Given the description of an element on the screen output the (x, y) to click on. 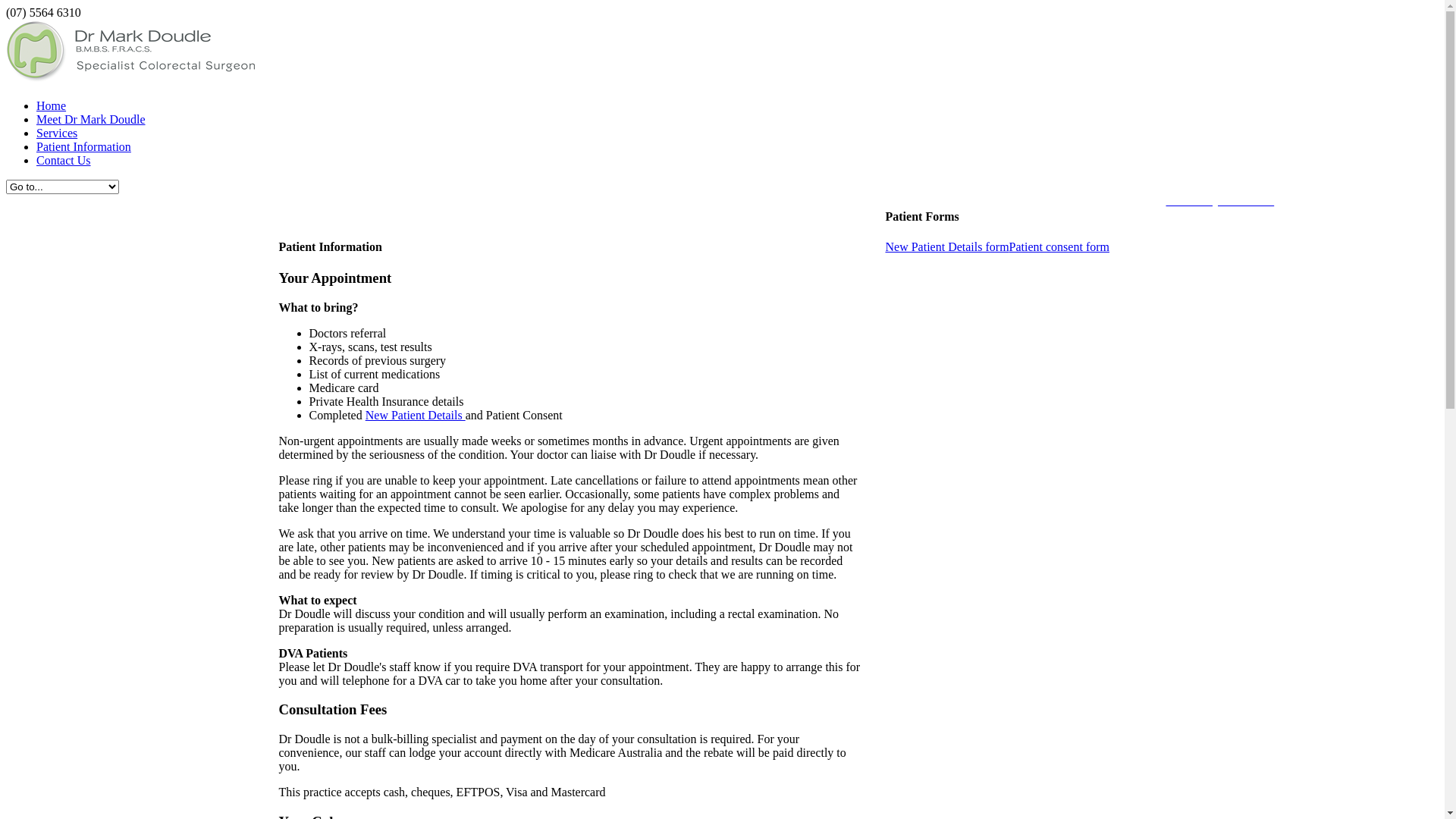
Contact Us Element type: text (63, 159)
New Patient Details form Element type: text (947, 246)
Website by 1232WEB Element type: text (1220, 200)
Home Element type: text (50, 105)
New Patient Details Element type: text (415, 414)
Patient consent form Element type: text (1059, 246)
Patient Information Element type: text (83, 146)
Services Element type: text (56, 132)
Meet Dr Mark Doudle Element type: text (90, 118)
